Given the description of an element on the screen output the (x, y) to click on. 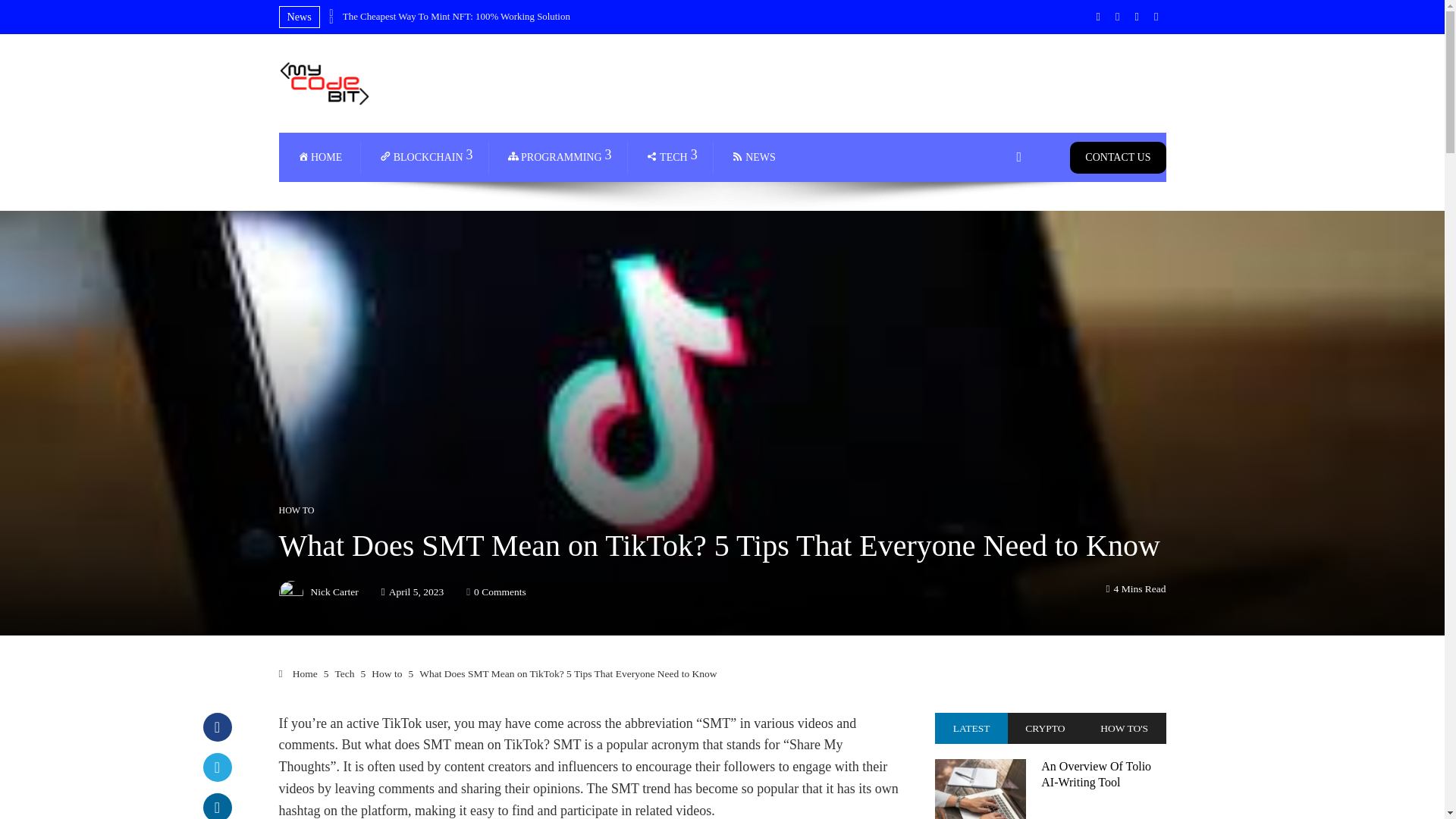
TECH (670, 156)
PROGRAMMING (558, 156)
BLOCKCHAIN (424, 156)
NEWS (754, 156)
HOME (319, 156)
CONTACT US (1118, 156)
